Given the description of an element on the screen output the (x, y) to click on. 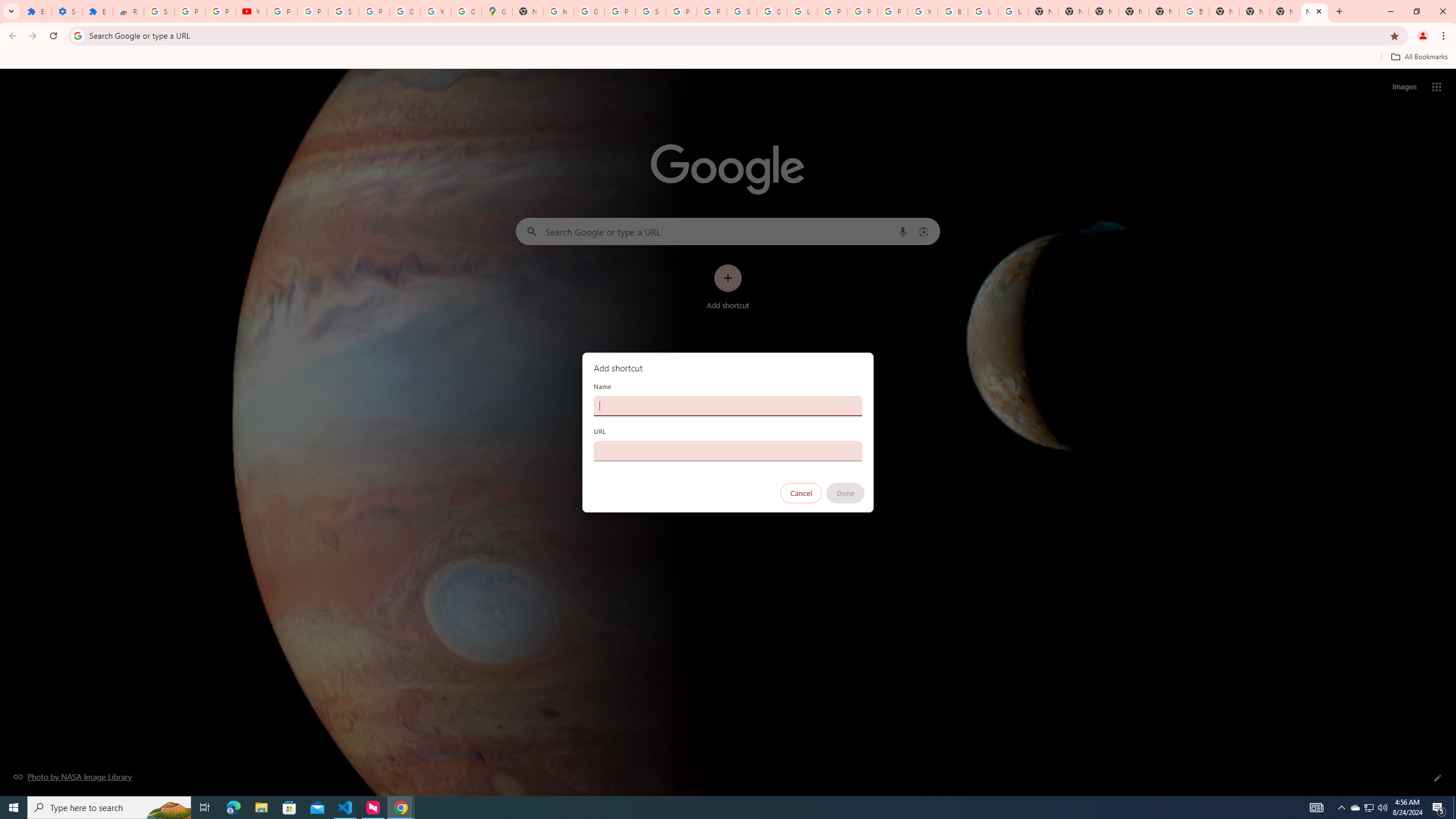
Privacy Help Center - Policies Help (832, 11)
Google Maps (496, 11)
New Tab (1314, 11)
Name (727, 405)
Privacy Help Center - Policies Help (862, 11)
